Given the description of an element on the screen output the (x, y) to click on. 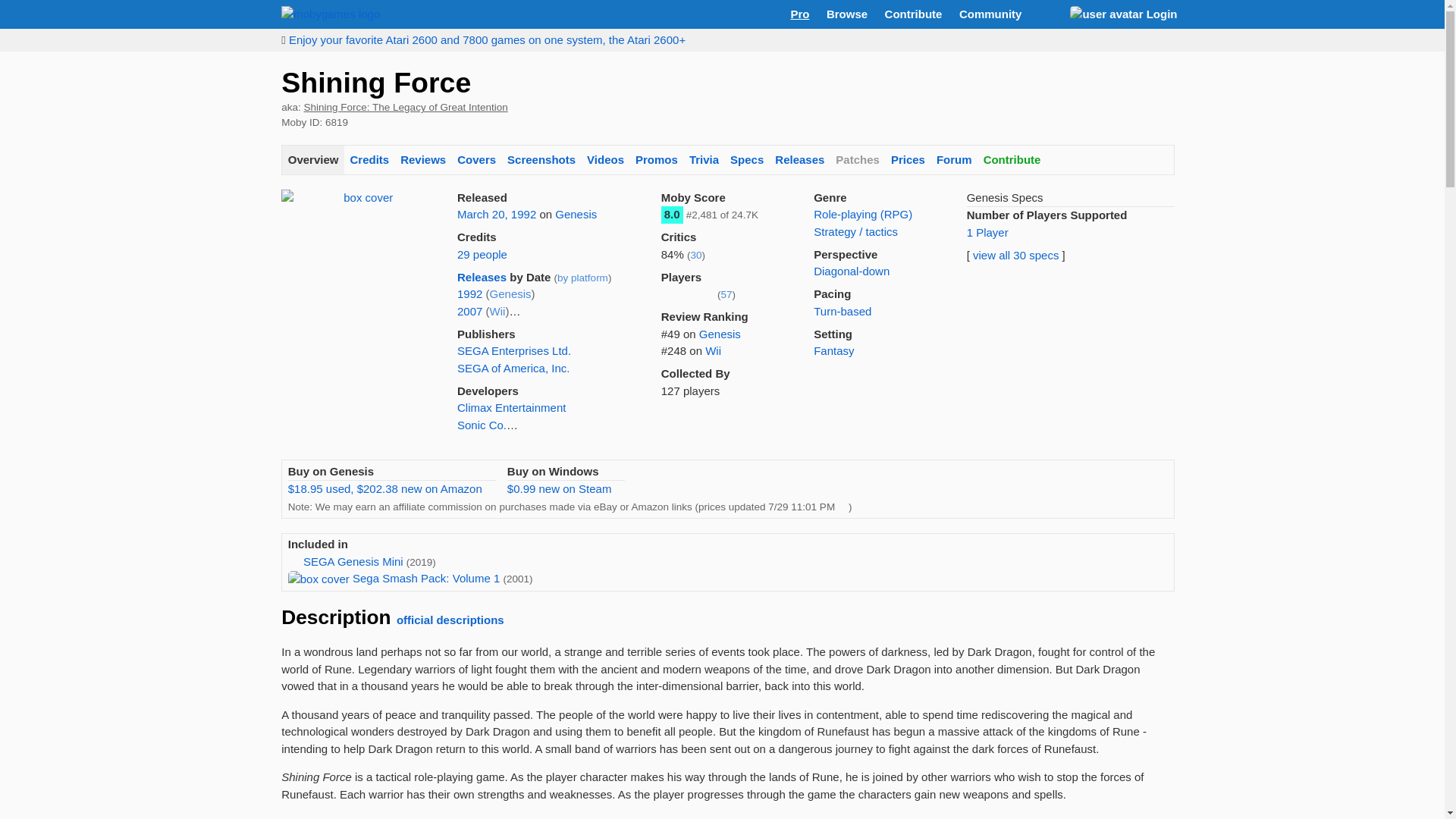
Prices (907, 160)
Specs (747, 160)
Patches (857, 160)
Trivia (702, 160)
Promos (657, 160)
Releases (799, 160)
Credits (368, 160)
Screenshots (541, 160)
Pro (799, 13)
Videos (605, 160)
Forum (953, 160)
Overview (312, 160)
Reviews (422, 160)
Covers (476, 160)
